Given the description of an element on the screen output the (x, y) to click on. 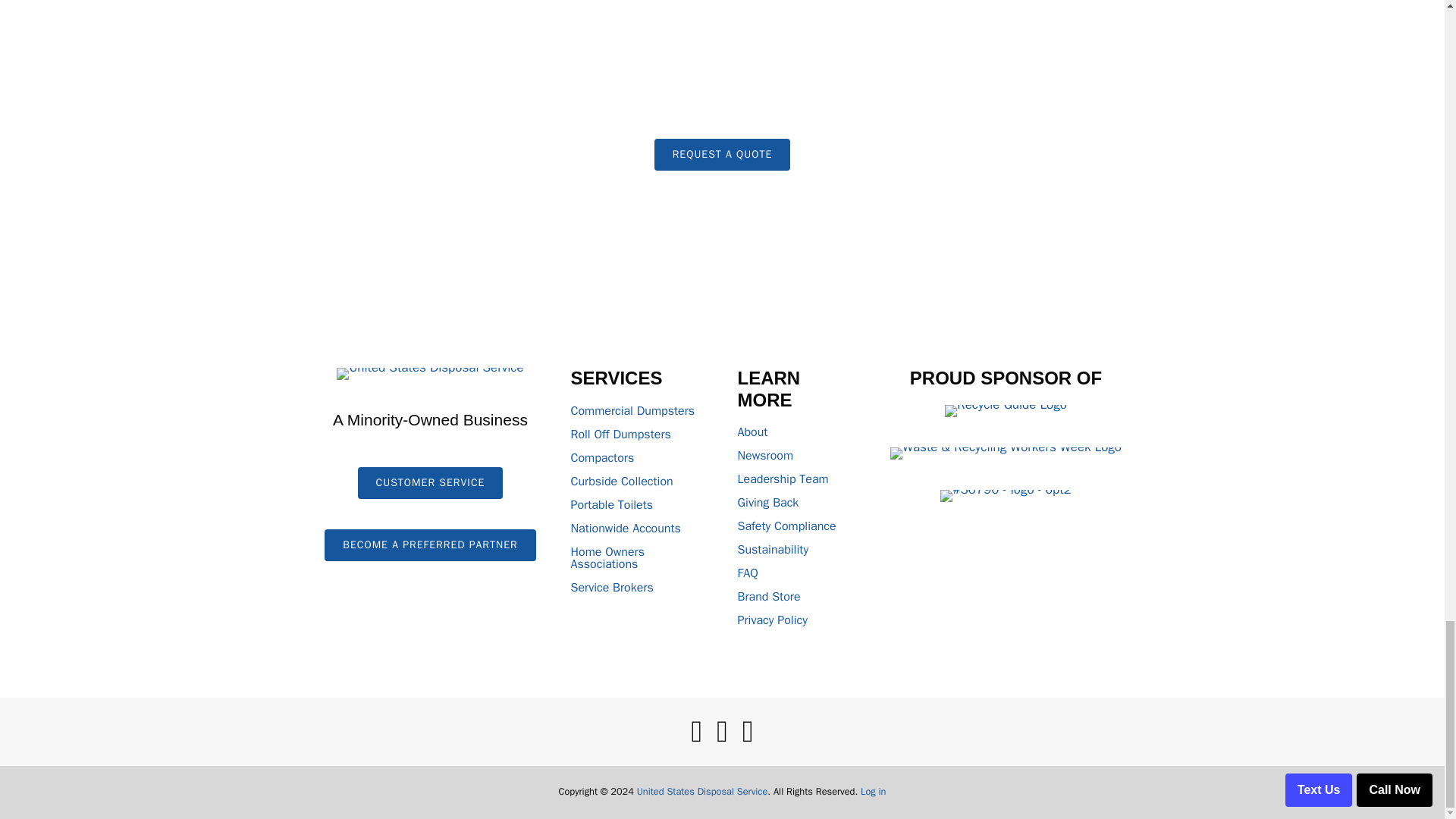
Recycle Guide Logo (1005, 410)
United States Disposal Service (429, 373)
